Given the description of an element on the screen output the (x, y) to click on. 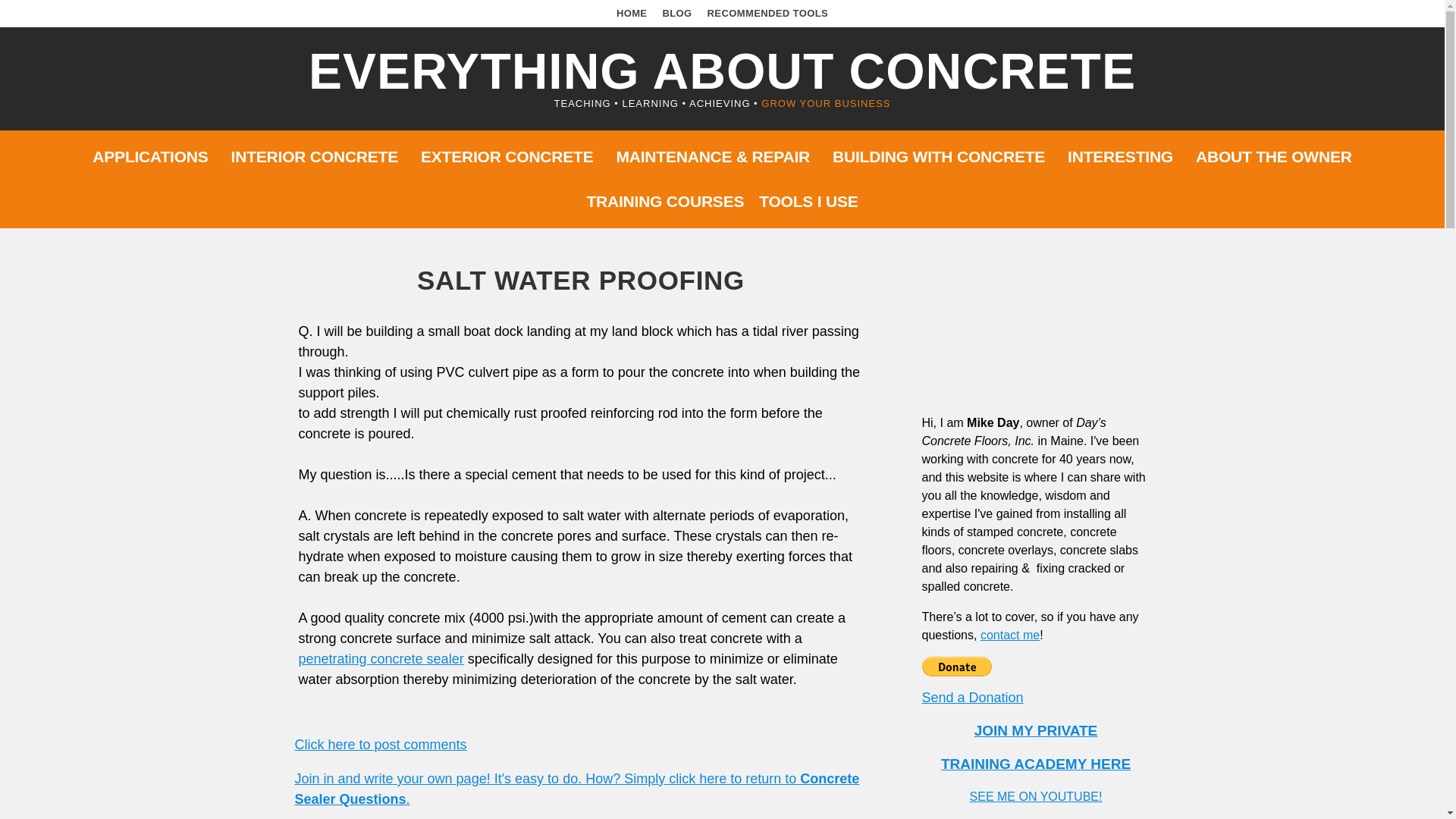
EVERYTHING ABOUT CONCRETE (721, 71)
RECOMMENDED TOOLS (767, 12)
PayPal - The safer, easier way to pay online! (956, 666)
BLOG (676, 12)
Mike Day Concrete (1035, 332)
HOME (631, 12)
